Given the description of an element on the screen output the (x, y) to click on. 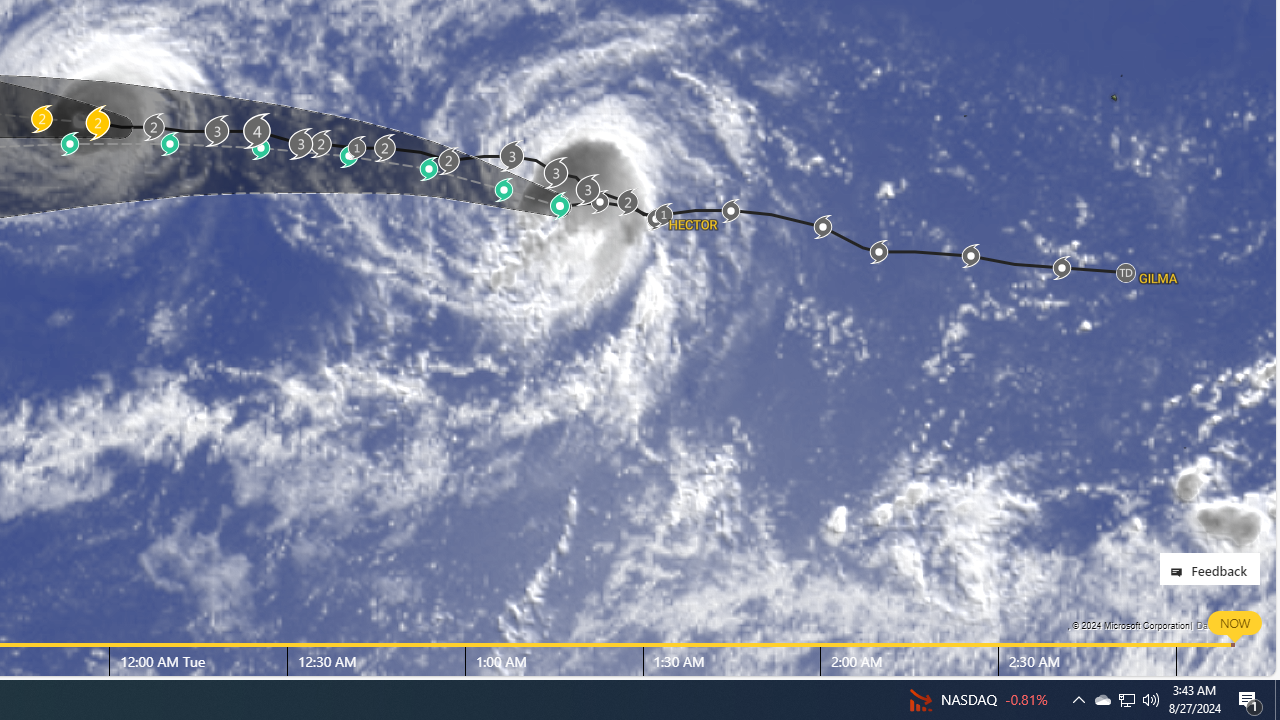
Data Providers (1225, 625)
Class: feedback_link_icon-DS-EntryPoint1-1 (1179, 571)
